Given the description of an element on the screen output the (x, y) to click on. 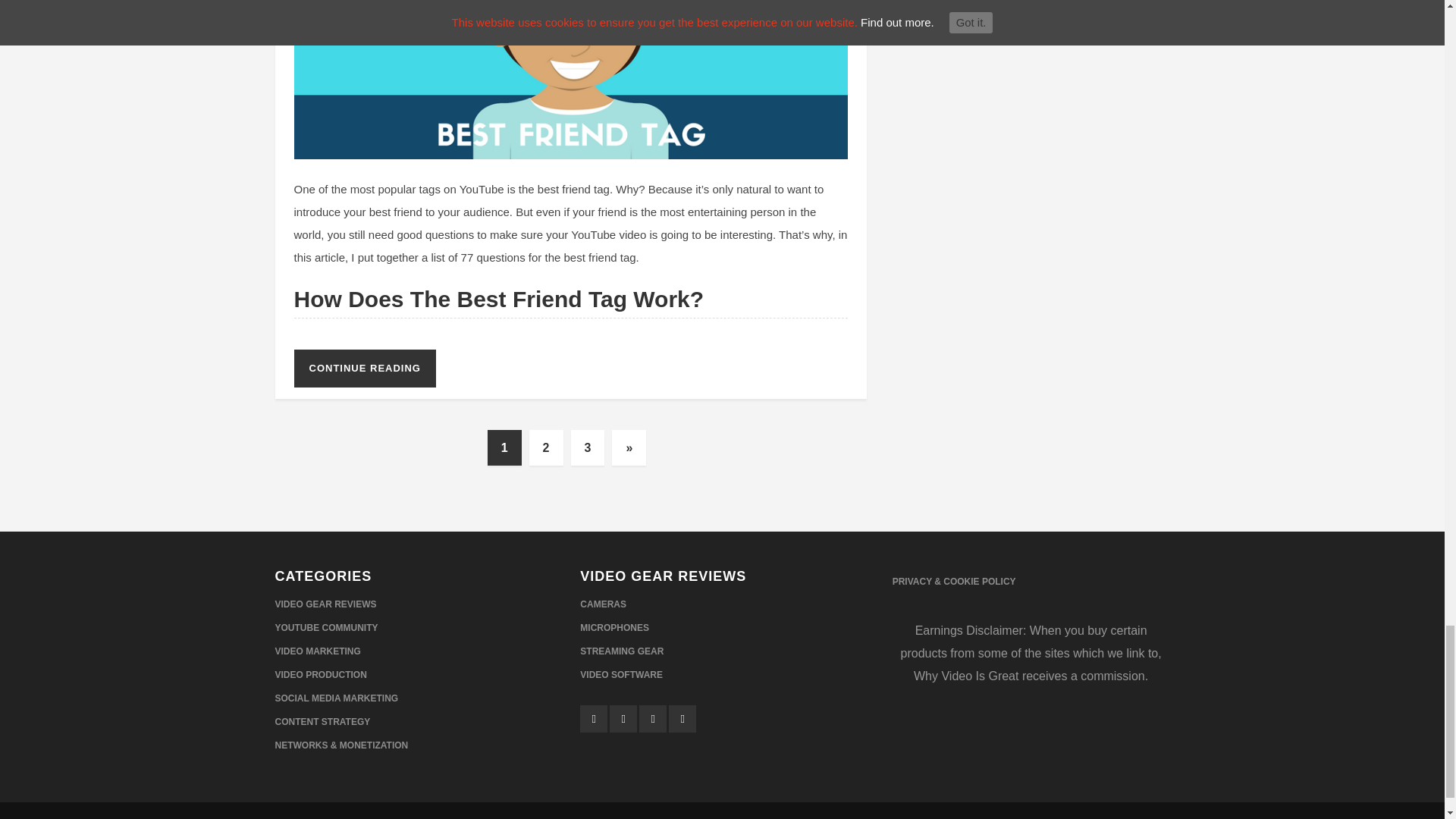
Twitter (593, 718)
YouTube (652, 718)
Facebook (681, 718)
2 (546, 447)
3 (587, 447)
Twitter (623, 718)
